Given the description of an element on the screen output the (x, y) to click on. 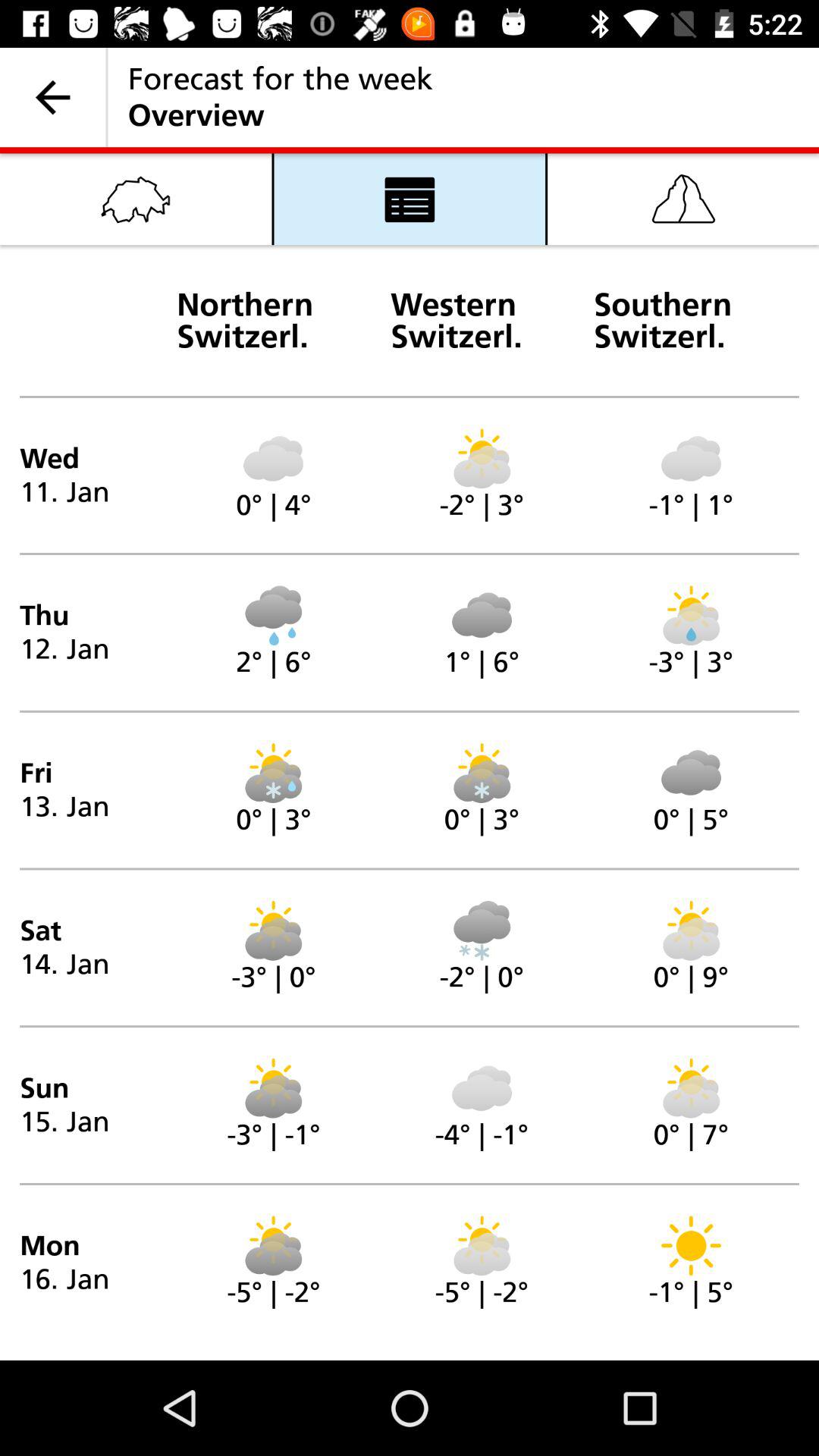
launch the item next to forecast for the icon (52, 97)
